Given the description of an element on the screen output the (x, y) to click on. 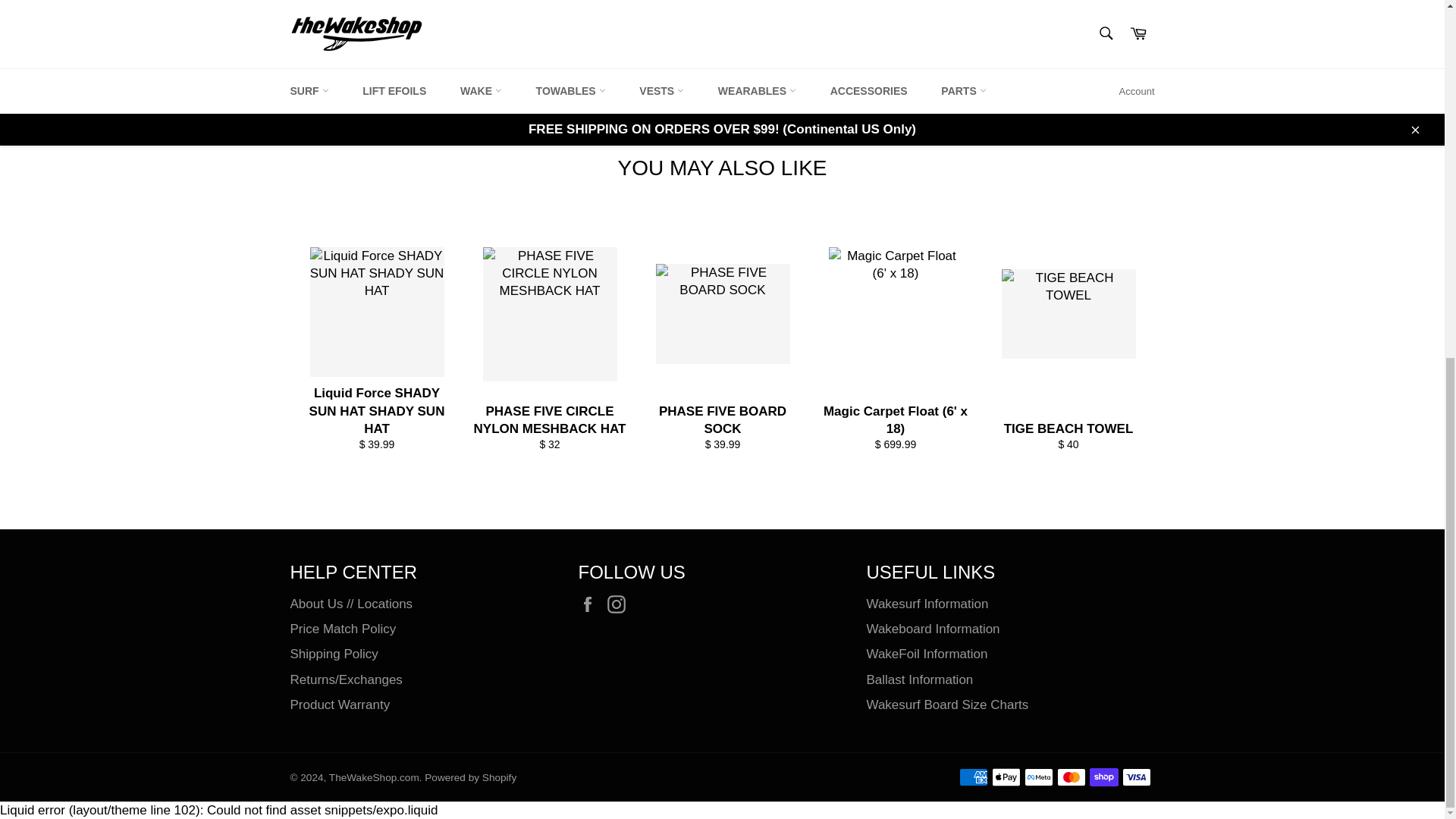
TheWakeShop.com on Facebook (591, 604)
Apple Pay (1005, 777)
TheWakeShop.com on Instagram (620, 604)
Share on Facebook (1144, 22)
Meta Pay (1037, 777)
American Express (972, 777)
Visa (1136, 777)
Shop Pay (1103, 777)
Mastercard (1071, 777)
